Given the description of an element on the screen output the (x, y) to click on. 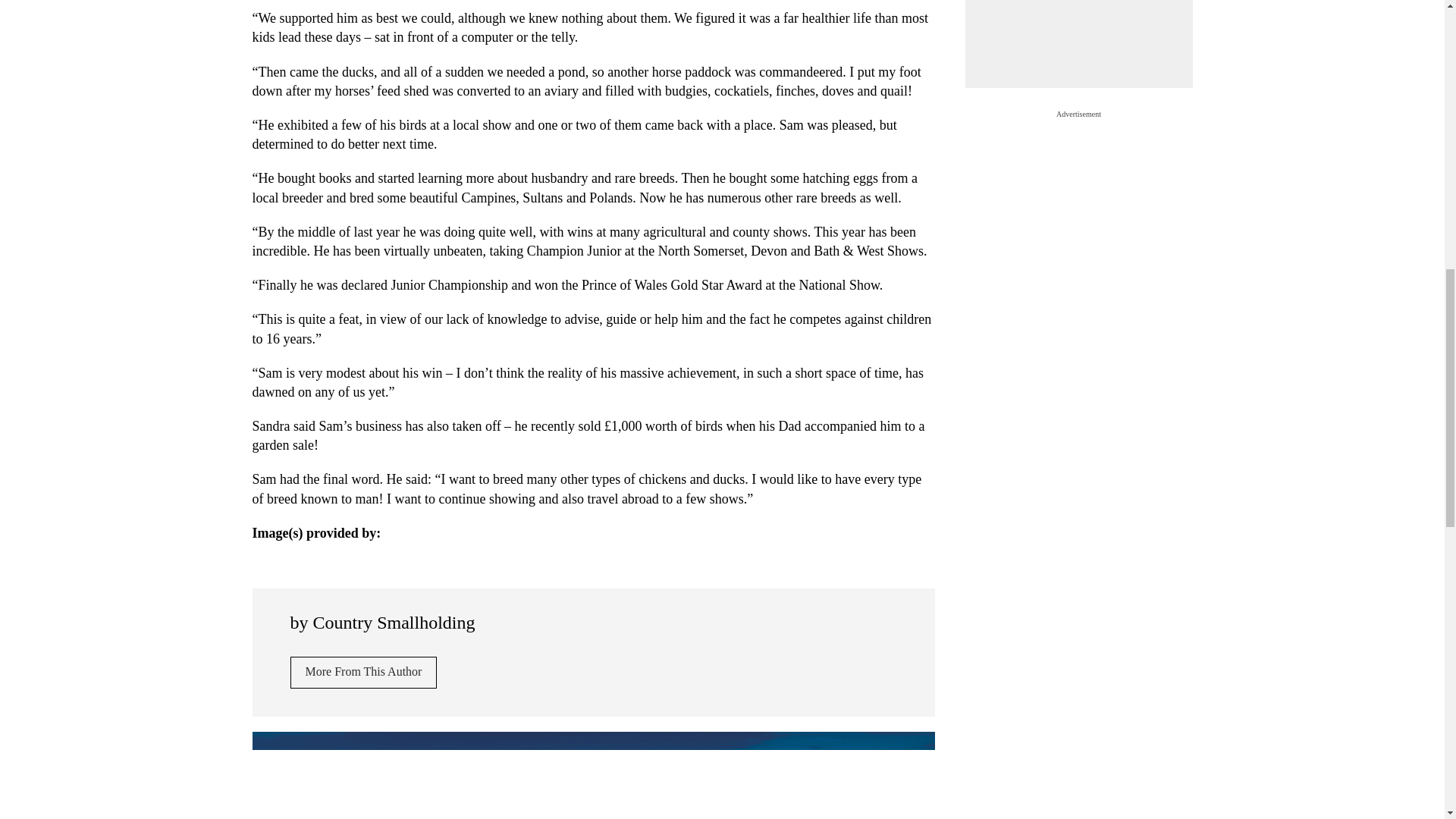
More From This Author (362, 672)
